Given the description of an element on the screen output the (x, y) to click on. 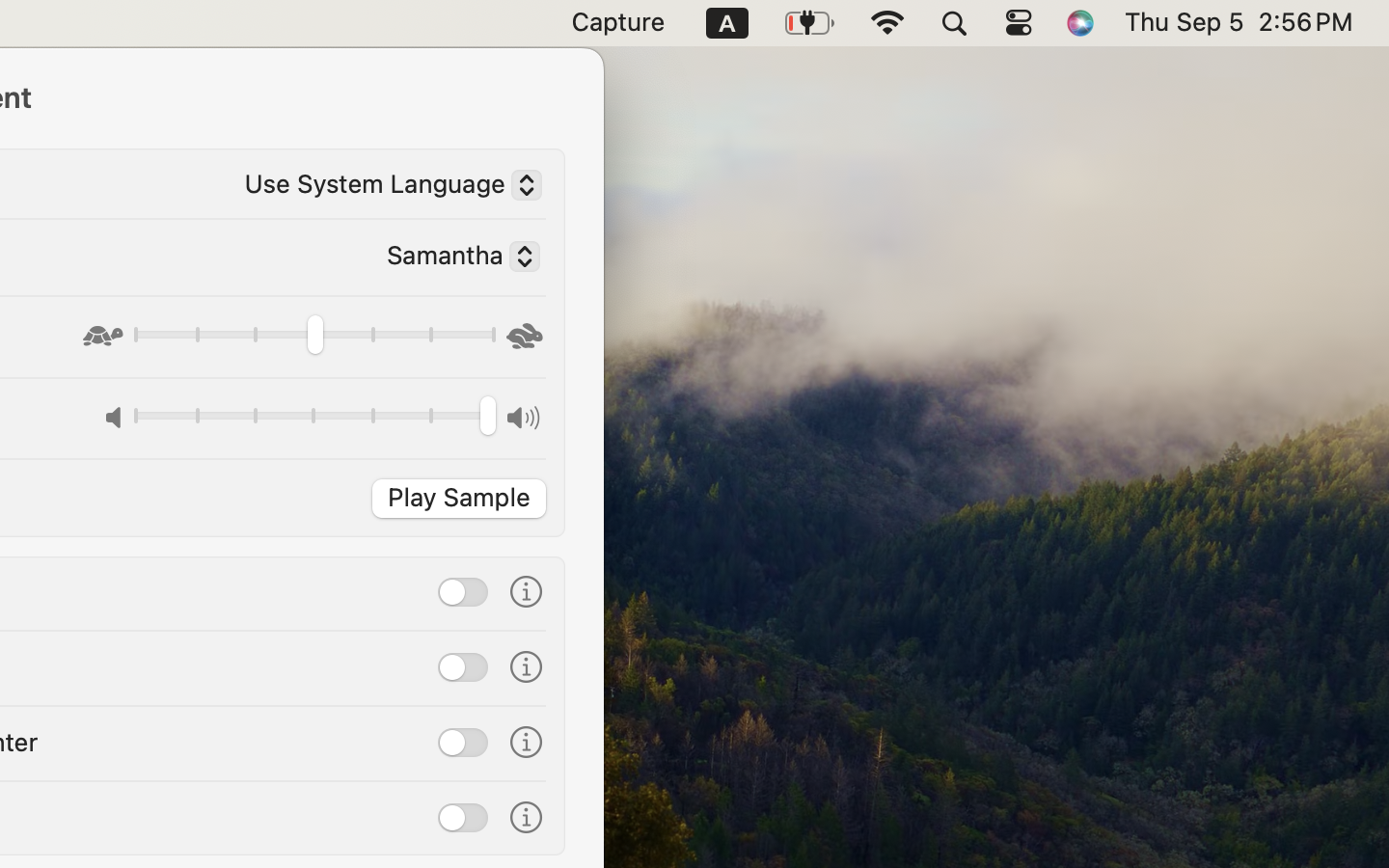
Samantha Element type: AXPopUpButton (454, 259)
Use System Language Element type: AXPopUpButton (384, 187)
1.0 Element type: AXSlider (313, 418)
